Given the description of an element on the screen output the (x, y) to click on. 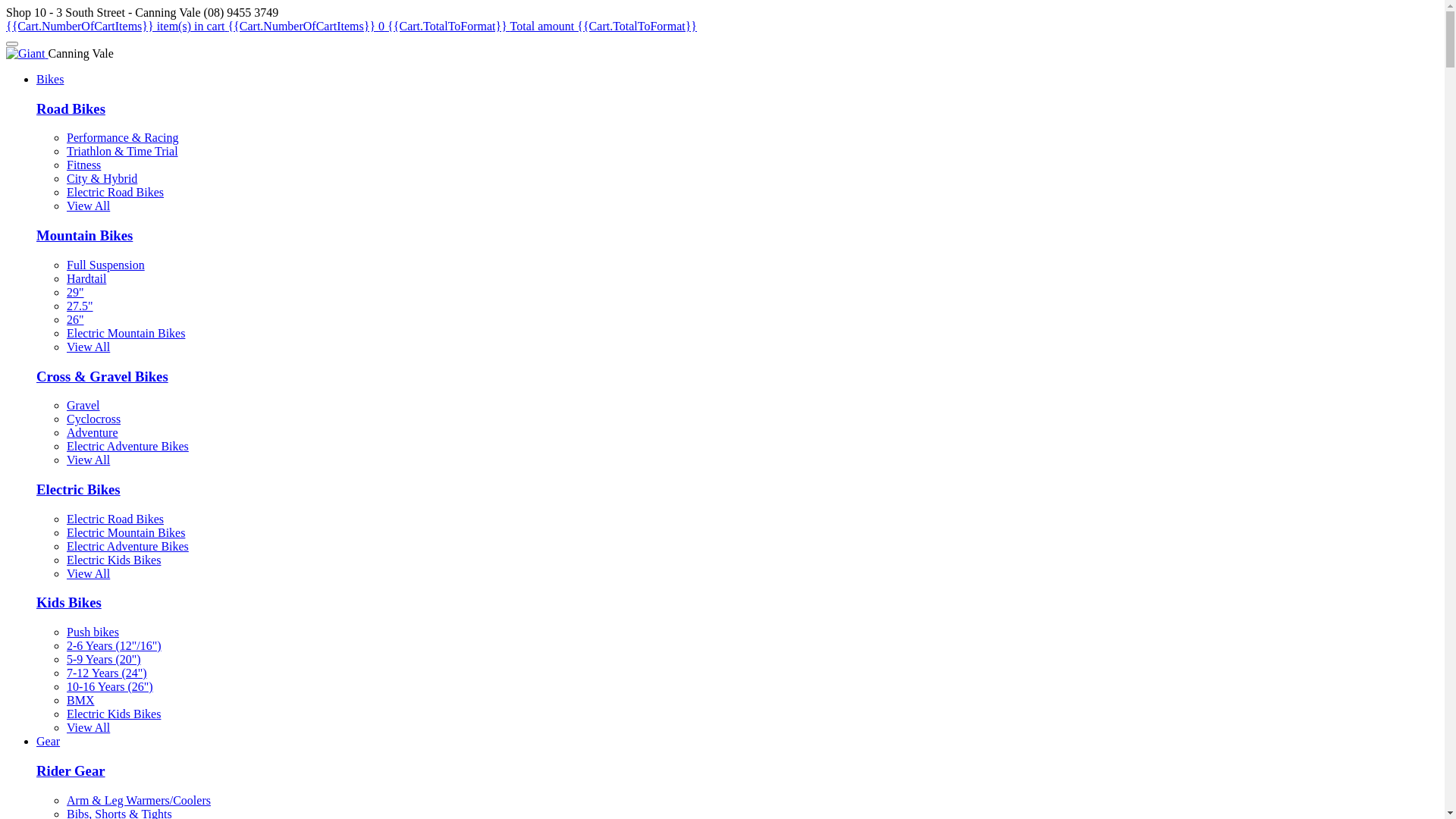
Triathlon & Time Trial Element type: text (122, 150)
29" Element type: text (75, 291)
Electric Bikes Element type: text (78, 489)
Performance & Racing Element type: text (122, 137)
View All Element type: text (87, 573)
BMX Element type: text (80, 699)
Rider Gear Element type: text (70, 770)
View All Element type: text (87, 459)
Road Bikes Element type: text (70, 108)
Electric Kids Bikes Element type: text (113, 713)
City & Hybrid Element type: text (101, 178)
Electric Road Bikes Element type: text (114, 518)
Full Suspension Element type: text (105, 264)
Bikes Element type: text (49, 78)
Gravel Element type: text (83, 404)
2-6 Years (12"/16") Element type: text (113, 645)
View All Element type: text (87, 727)
Gear Element type: text (47, 740)
Arm & Leg Warmers/Coolers Element type: text (138, 799)
Fitness Element type: text (83, 164)
Hardtail Element type: text (86, 278)
10-16 Years (26") Element type: text (109, 686)
Electric Mountain Bikes Element type: text (125, 532)
26" Element type: text (75, 319)
5-9 Years (20") Element type: text (103, 658)
Adventure Element type: text (92, 432)
Cyclocross Element type: text (93, 418)
Electric Mountain Bikes Element type: text (125, 332)
Mountain Bikes Element type: text (84, 235)
View All Element type: text (87, 205)
View All Element type: text (87, 346)
Electric Road Bikes Element type: text (114, 191)
Electric Kids Bikes Element type: text (113, 559)
Electric Adventure Bikes Element type: text (127, 545)
Cross & Gravel Bikes Element type: text (102, 376)
Electric Adventure Bikes Element type: text (127, 445)
Push bikes Element type: text (92, 631)
Kids Bikes Element type: text (68, 602)
7-12 Years (24") Element type: text (106, 672)
27.5" Element type: text (79, 305)
